Given the description of an element on the screen output the (x, y) to click on. 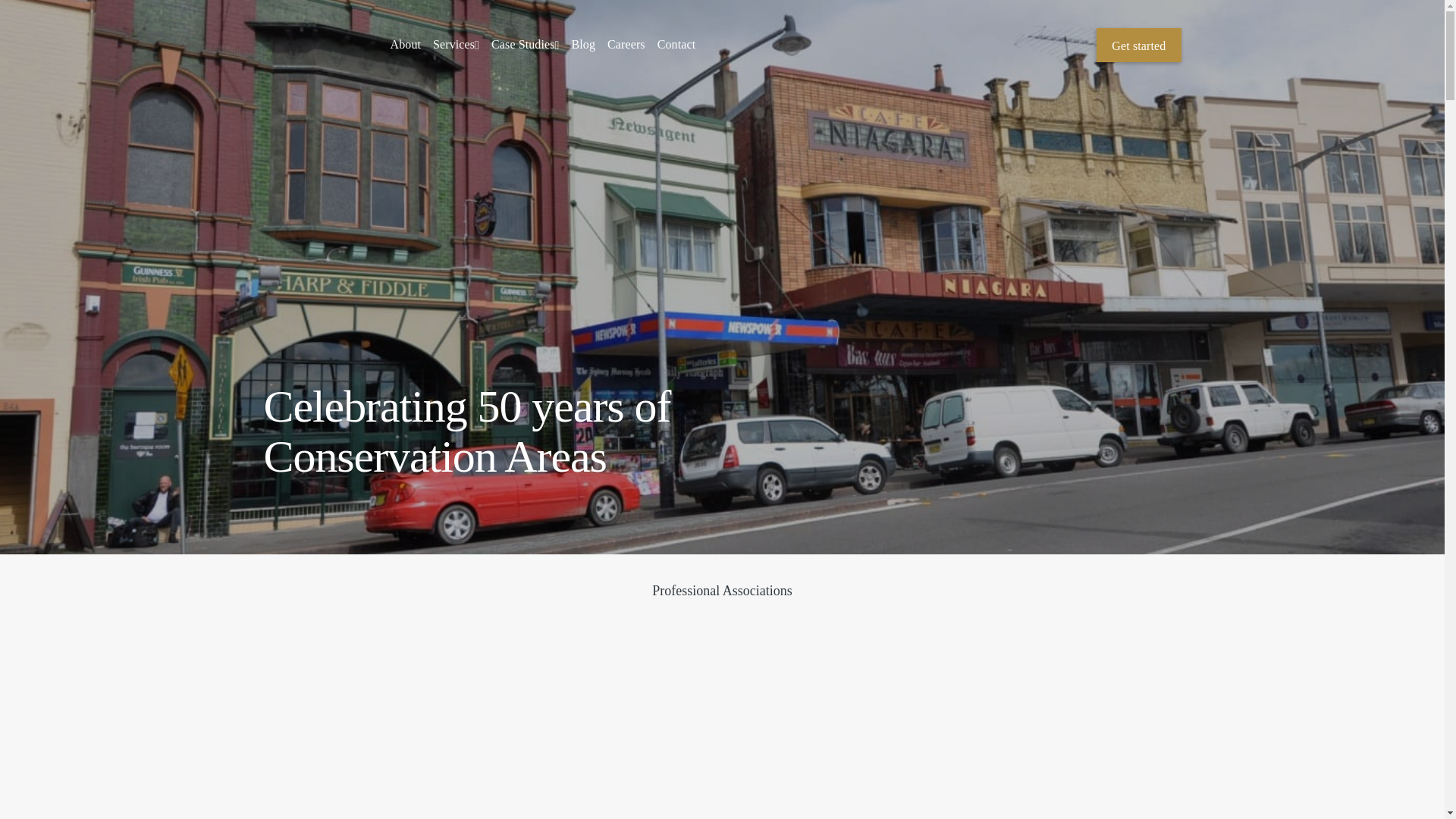
About (405, 44)
Services (455, 44)
Case Studies (524, 44)
